Given the description of an element on the screen output the (x, y) to click on. 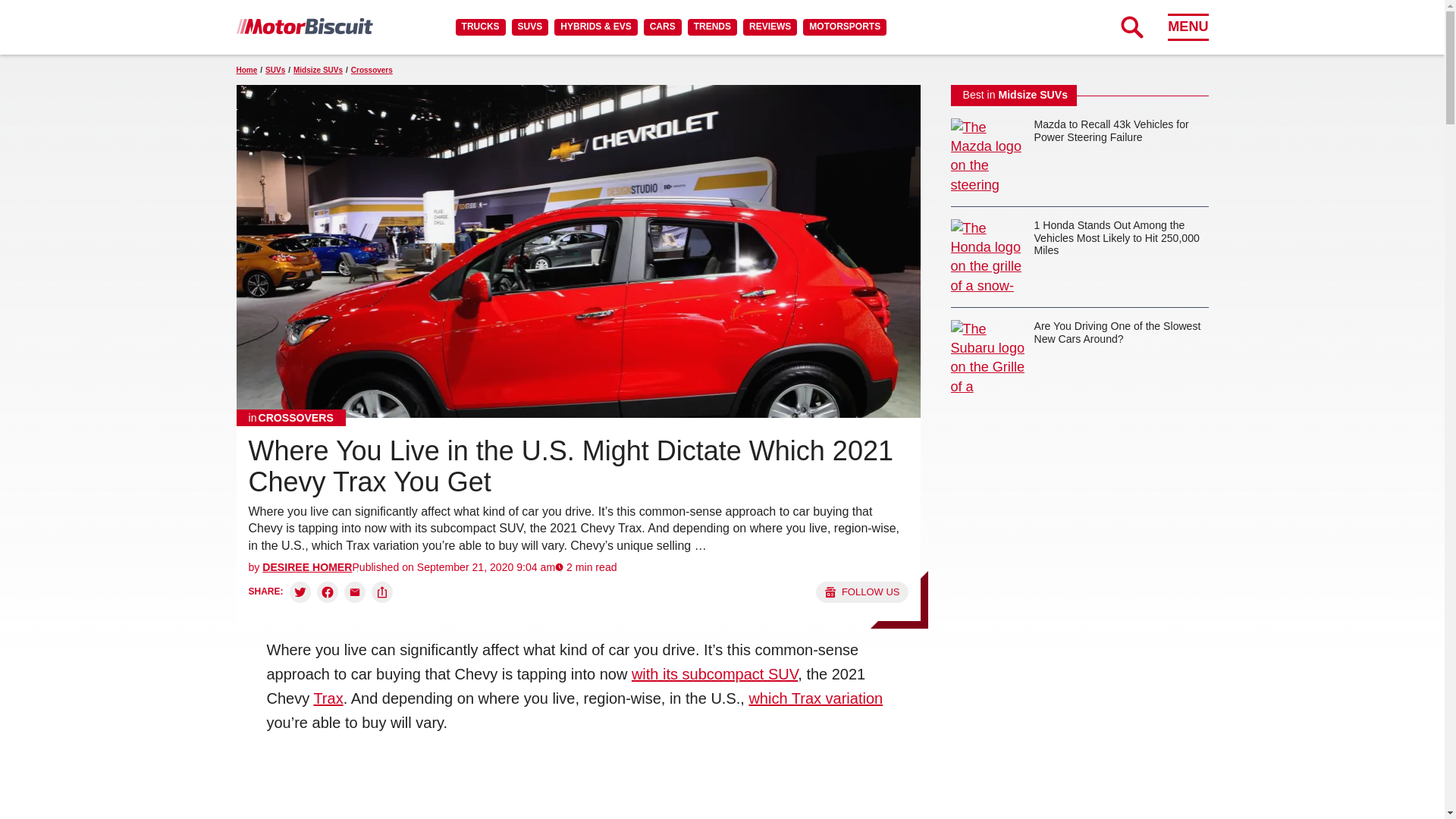
Follow us on Google News (861, 591)
Crossovers (290, 417)
MOTORSPORTS (844, 26)
TRENDS (711, 26)
TRUCKS (480, 26)
MotorBiscuit (303, 26)
Expand Search (1131, 26)
Copy link and share:  (382, 591)
CARS (662, 26)
REVIEWS (769, 26)
SUVS (530, 26)
MENU (1187, 26)
